Given the description of an element on the screen output the (x, y) to click on. 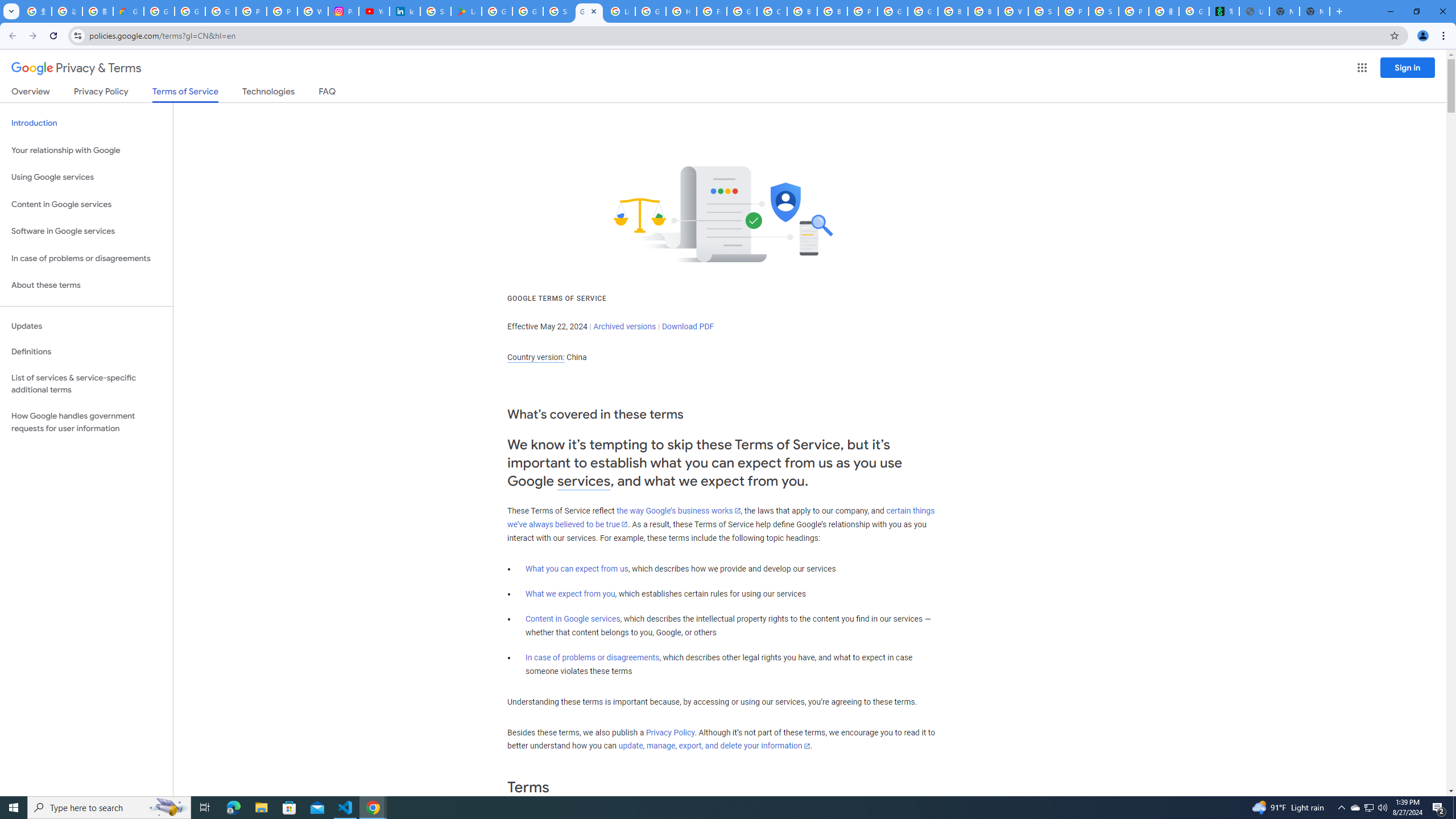
update, manage, export, and delete your information (714, 746)
Privacy Help Center - Policies Help (282, 11)
